Given the description of an element on the screen output the (x, y) to click on. 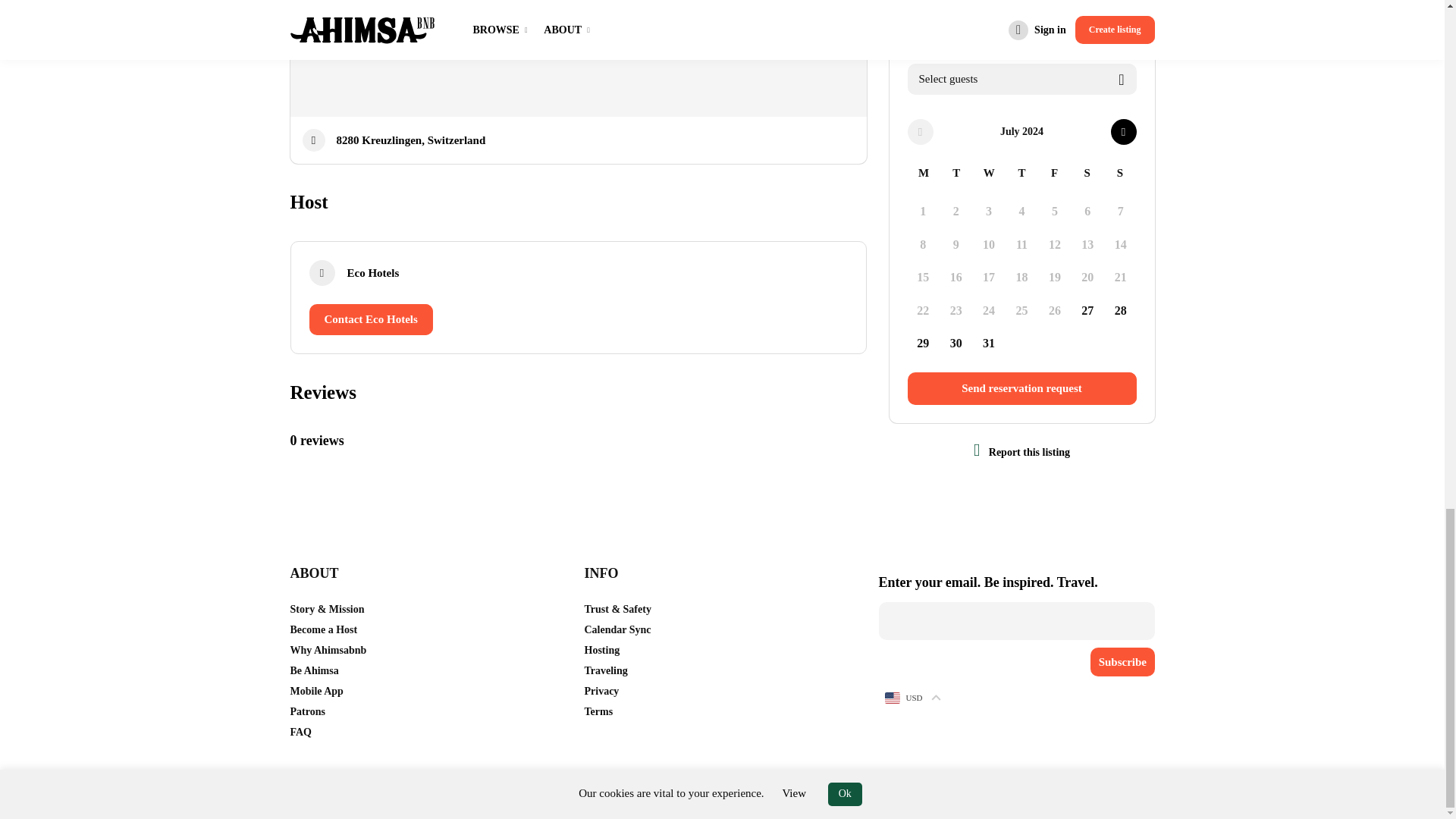
Contact Eco Hotels (370, 318)
Eco Hotels (372, 272)
8280 Kreuzlingen, Switzerland (411, 140)
Subscribe (1122, 661)
